Given the description of an element on the screen output the (x, y) to click on. 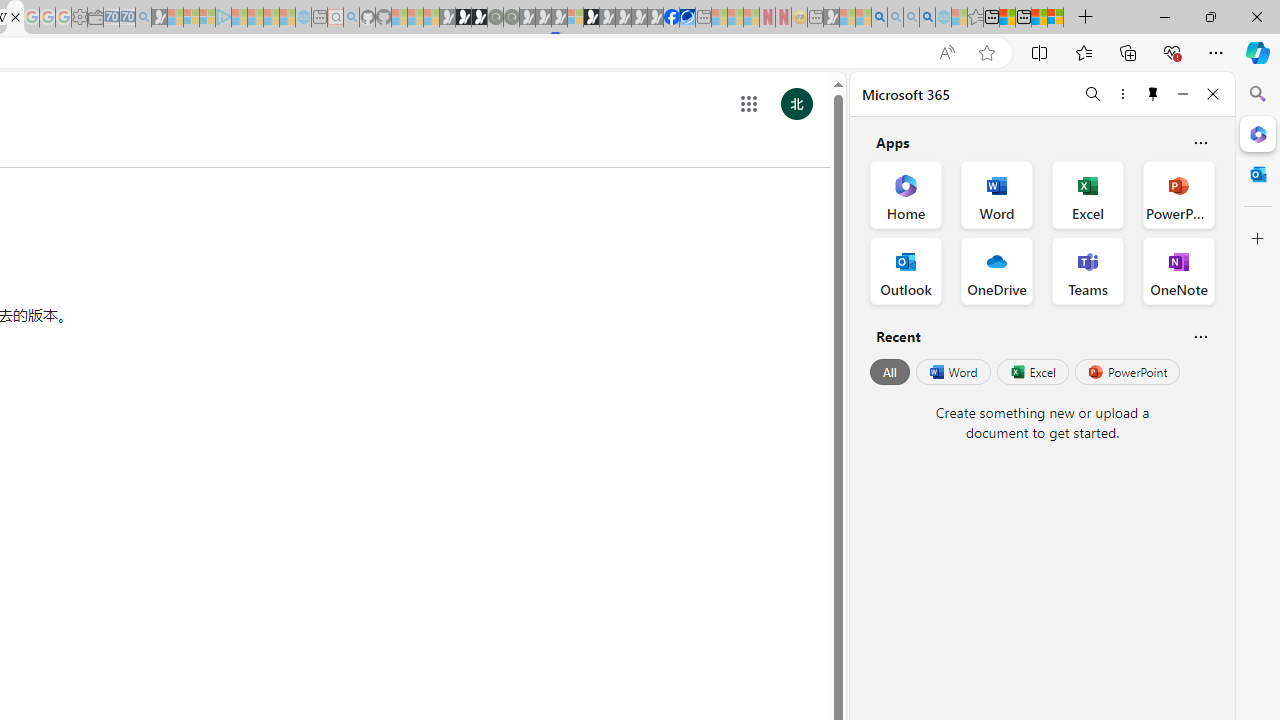
Teams Office App (1087, 270)
MSN - Sleeping (831, 17)
